Given the description of an element on the screen output the (x, y) to click on. 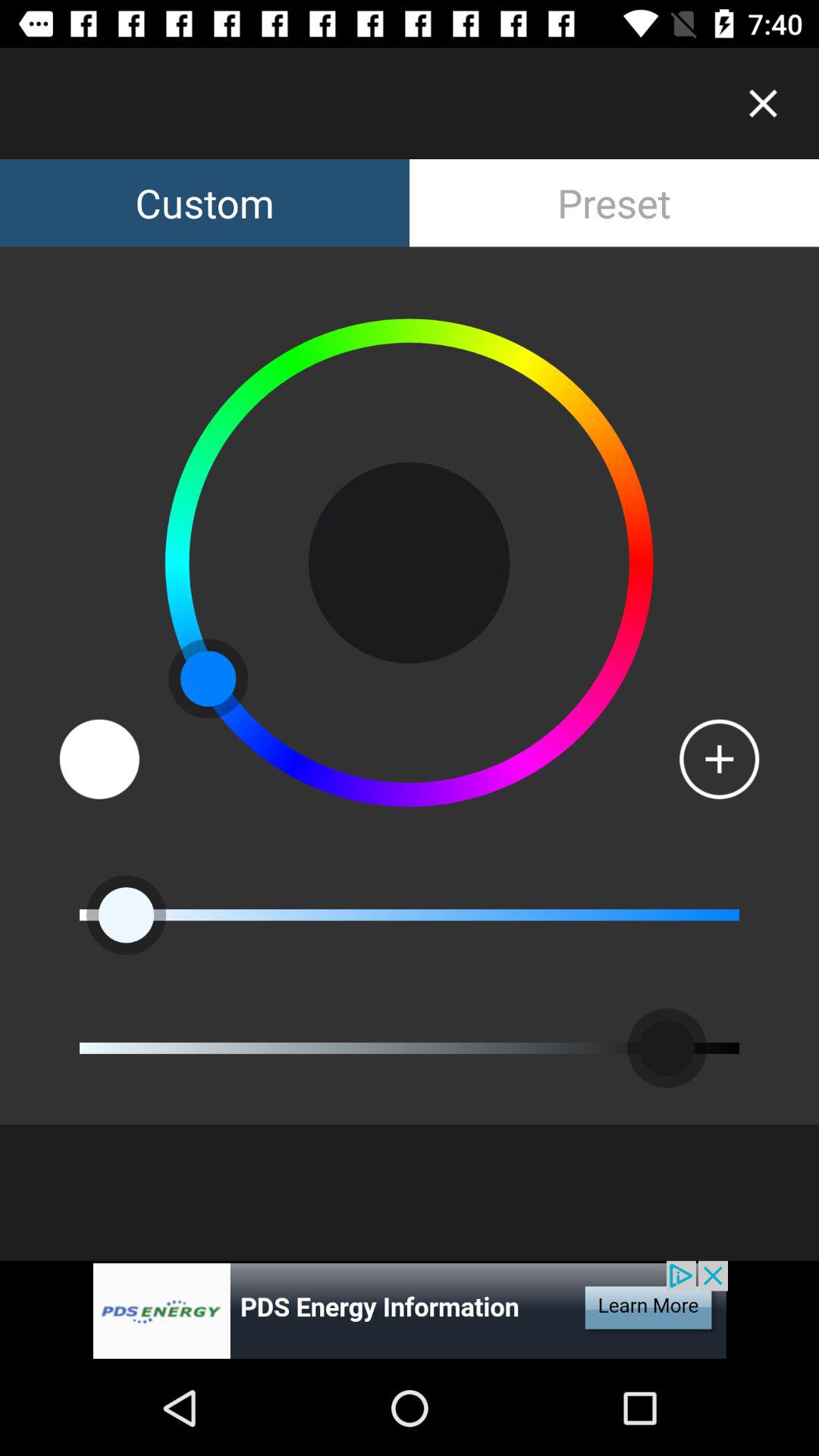
to select white color (99, 759)
